Given the description of an element on the screen output the (x, y) to click on. 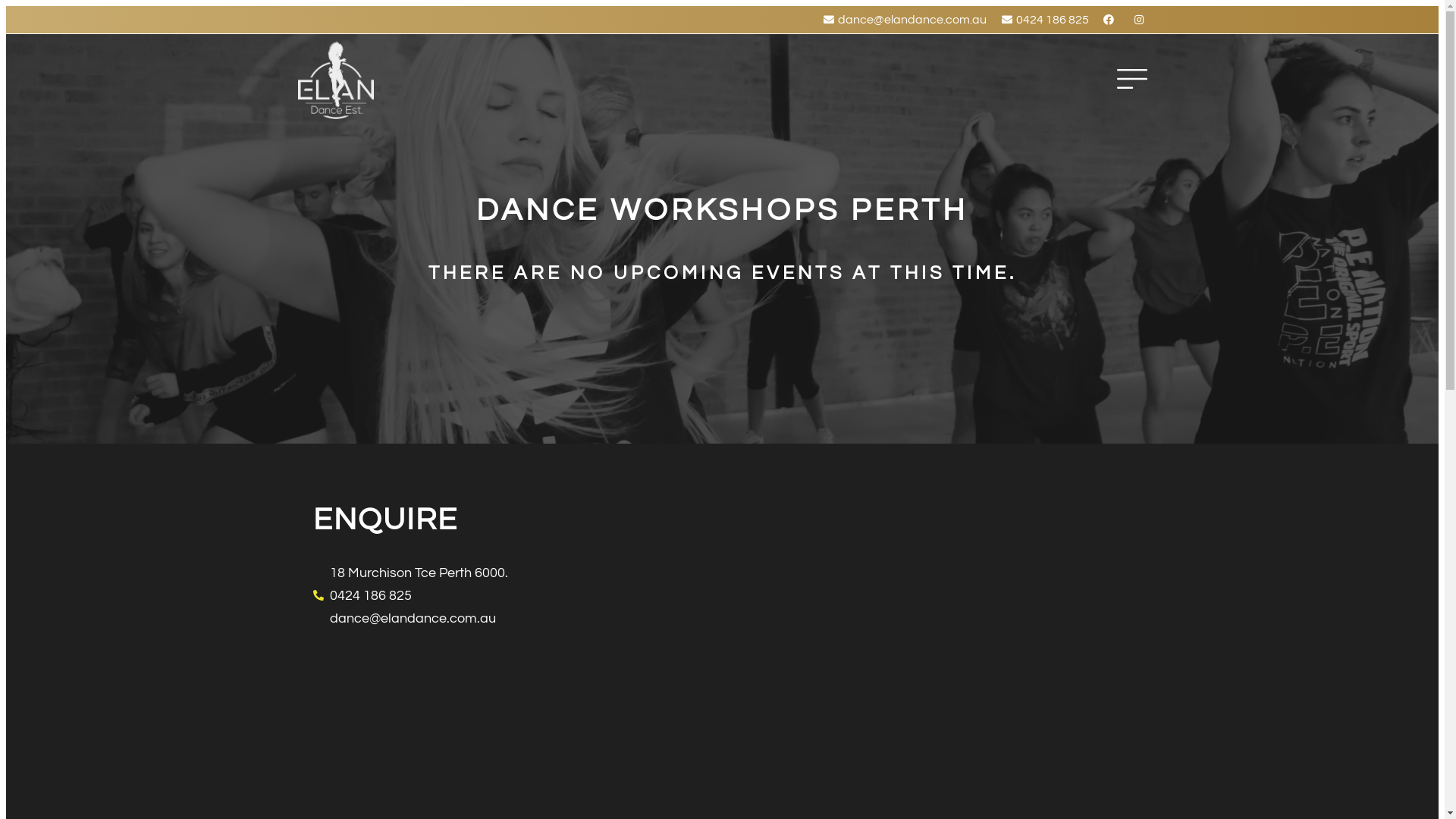
dance@elandance.com.au Element type: text (903, 19)
0424 186 825 Element type: text (1043, 19)
0424 186 825 Element type: text (505, 595)
